Given the description of an element on the screen output the (x, y) to click on. 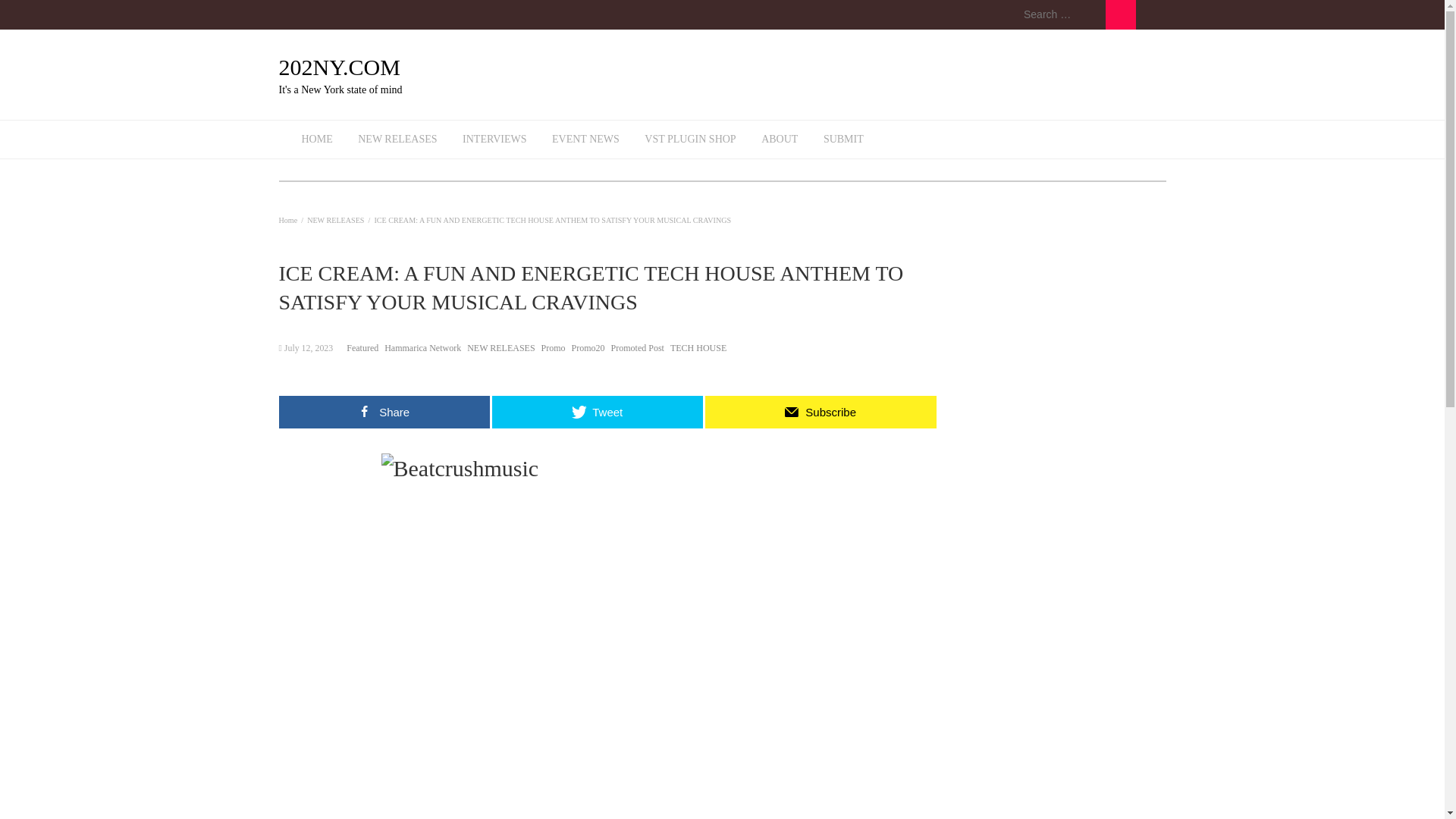
HOME (316, 139)
Featured (362, 347)
Search (1120, 14)
Share (384, 411)
EVENT NEWS (585, 139)
VST PLUGIN SHOP (689, 139)
SUBMIT (843, 139)
Promoted Post (637, 347)
NEW RELEASES (500, 347)
Tweet (597, 411)
ABOUT (779, 139)
Promo (553, 347)
INTERVIEWS (494, 139)
Promo20 (588, 347)
Hammarica Network (422, 347)
